Given the description of an element on the screen output the (x, y) to click on. 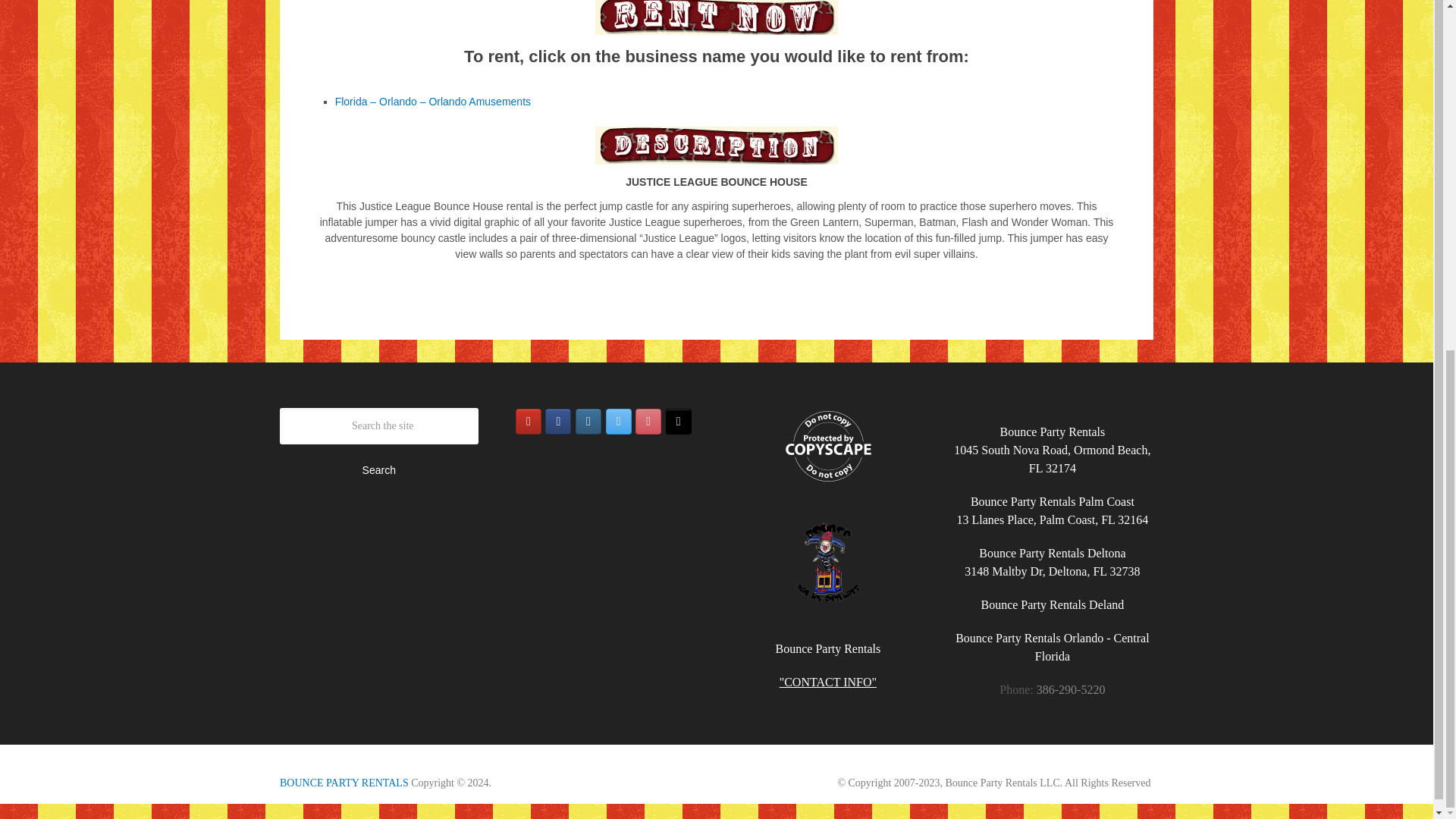
BOUNCE PARTY RENTALS on Facebook (557, 421)
BOUNCE PARTY RENTALS on Pinterest (647, 421)
BOUNCE PARTY RENTALS on Linkedin (678, 421)
BOUNCE PARTY RENTALS on Instagram (588, 421)
BOUNCE PARTY RENTALS on Youtube (528, 421)
BOUNCE PARTY RENTALS on X Twitter (618, 421)
